Given the description of an element on the screen output the (x, y) to click on. 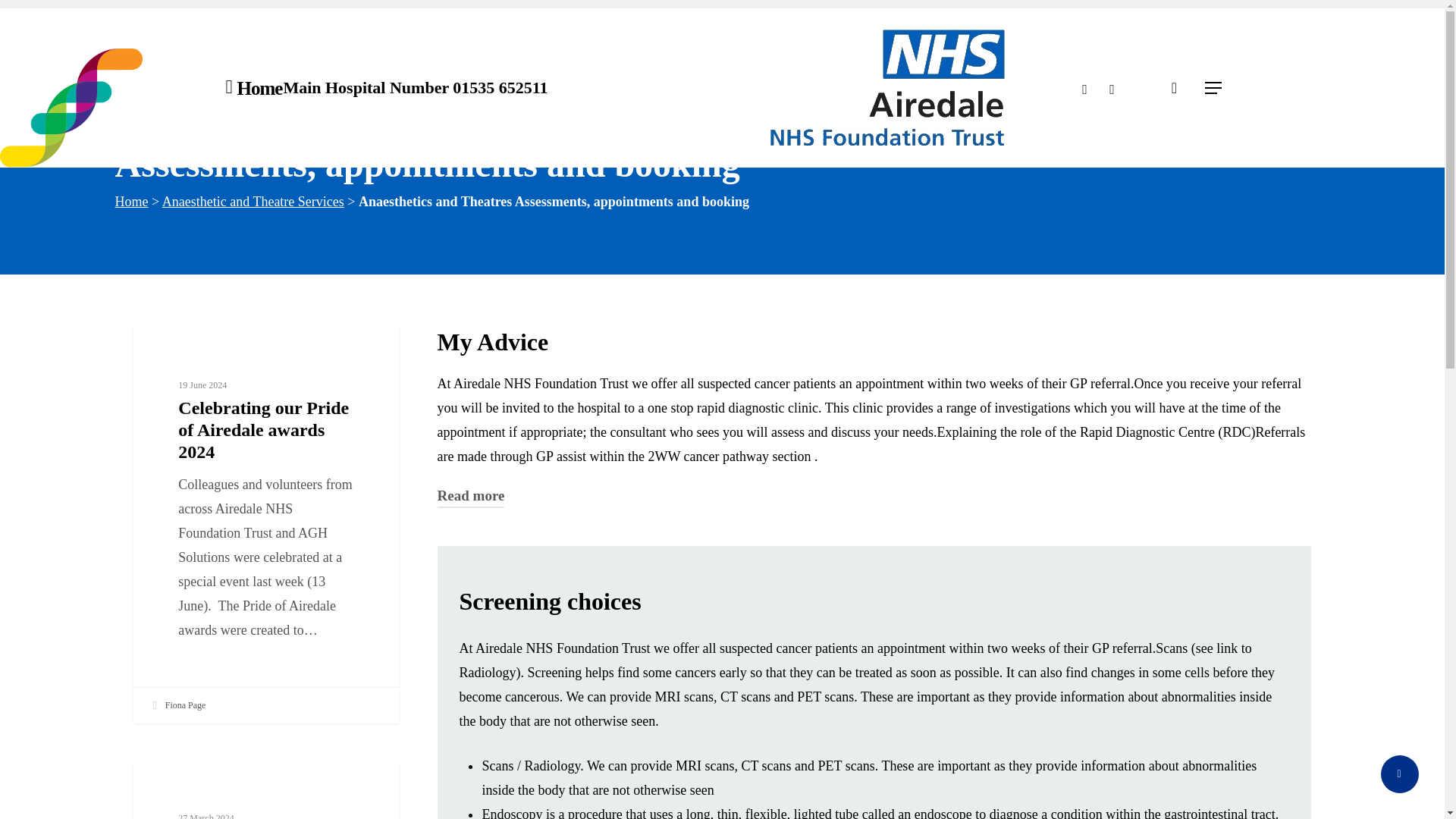
Menu (1213, 88)
Home (258, 87)
Main Hospital Number 01535 652511 (414, 87)
Home (131, 201)
Airedale Hospital Trust link (887, 87)
Share this page (1399, 774)
search (1173, 88)
twitter (1083, 87)
Anaesthetic and Theatre Services (252, 201)
facebook (1111, 87)
